Given the description of an element on the screen output the (x, y) to click on. 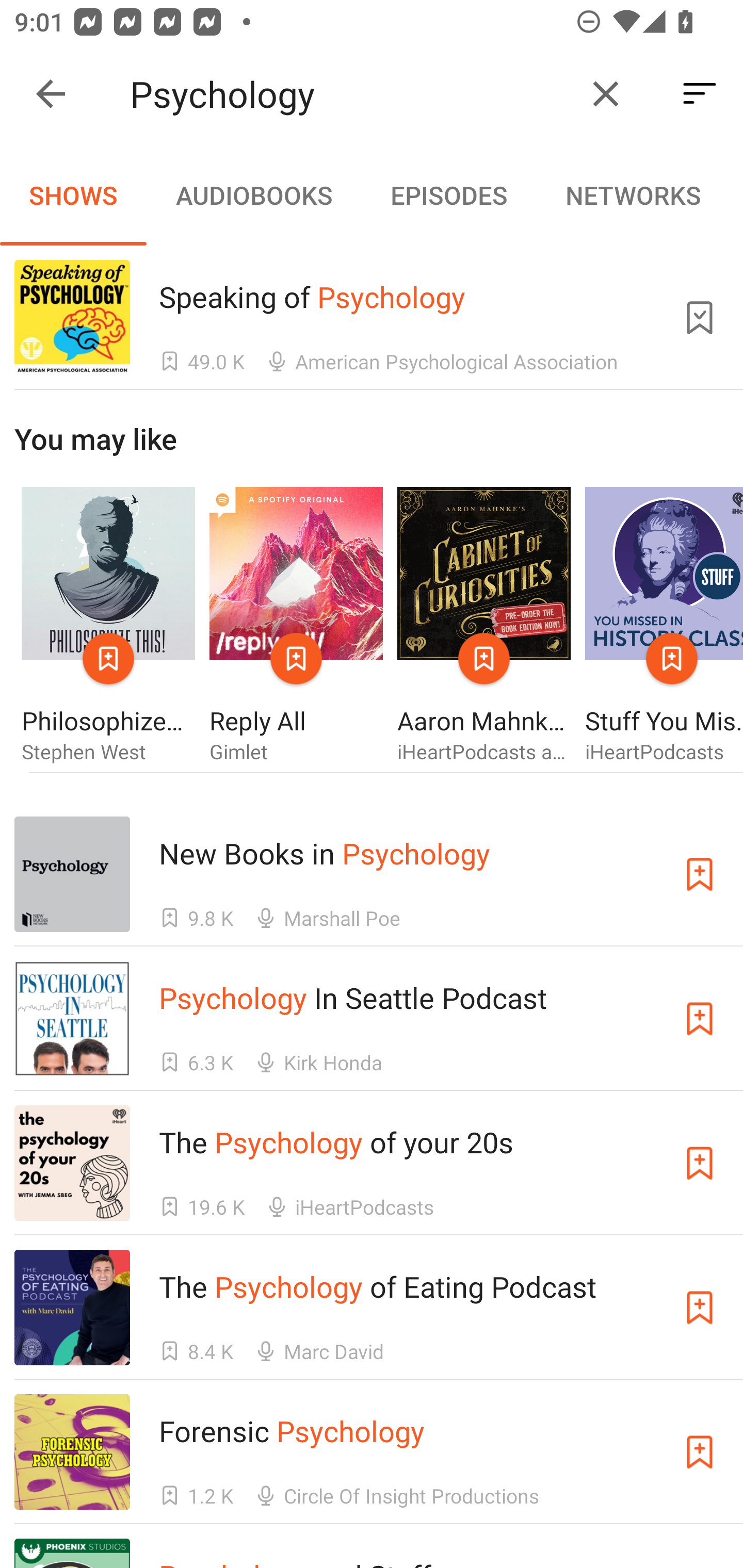
Collapse (50, 93)
Clear query (605, 93)
Sort By (699, 93)
Psychology (349, 94)
SHOWS (73, 195)
AUDIOBOOKS (253, 195)
EPISODES (448, 195)
NETWORKS (632, 195)
Unsubscribe (699, 317)
Philosophize This! Stephen West (107, 626)
Reply All Gimlet (295, 626)
Stuff You Missed in History Class iHeartPodcasts (664, 626)
Subscribe (699, 873)
Subscribe (699, 1019)
Subscribe (699, 1163)
Subscribe (699, 1307)
Subscribe (699, 1451)
